Given the description of an element on the screen output the (x, y) to click on. 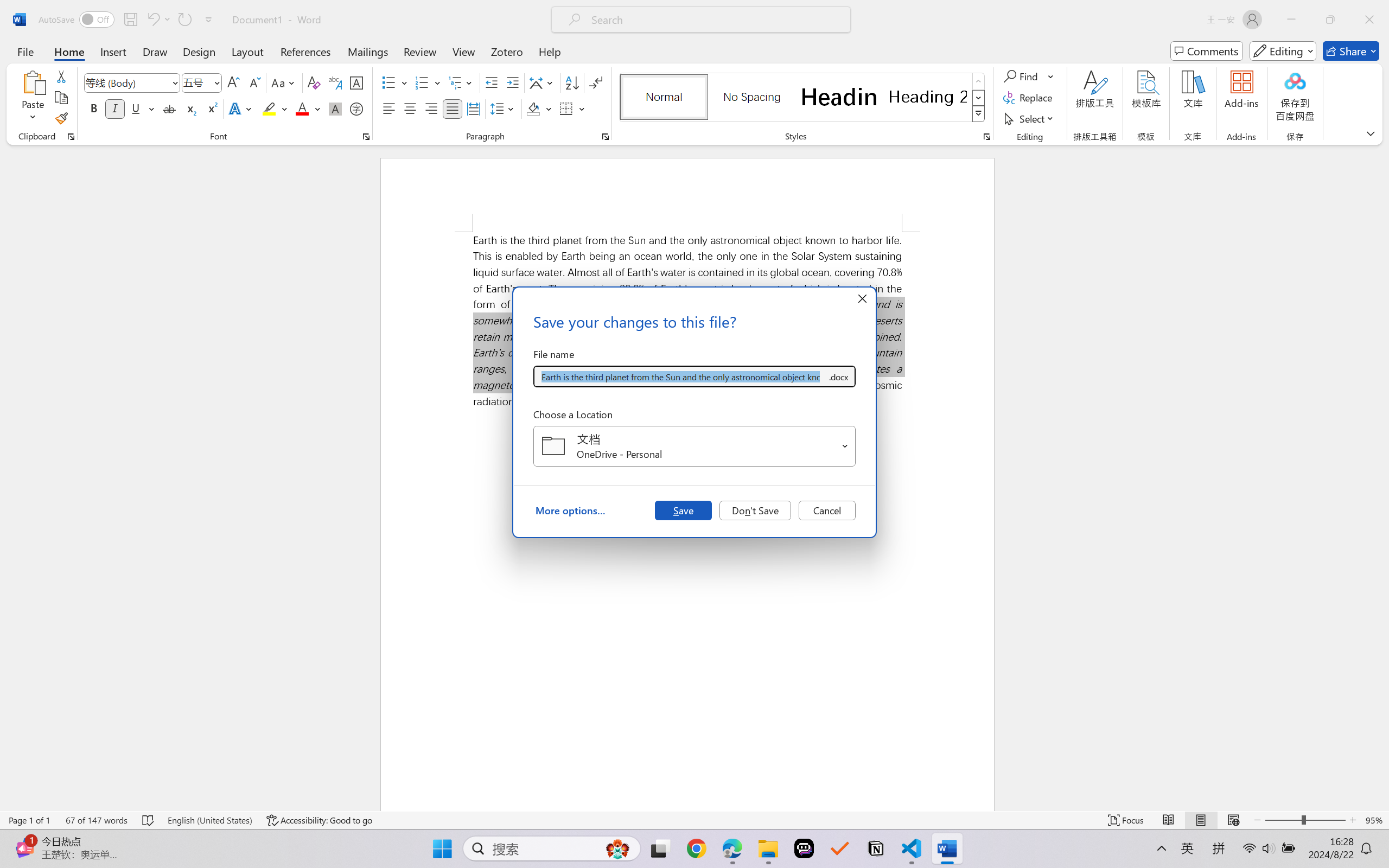
Undo Italic (152, 19)
Row up (978, 81)
Format Painter (60, 118)
Heading 2 (927, 96)
Heading 1 (839, 96)
Open (844, 446)
Cancel (826, 509)
